Given the description of an element on the screen output the (x, y) to click on. 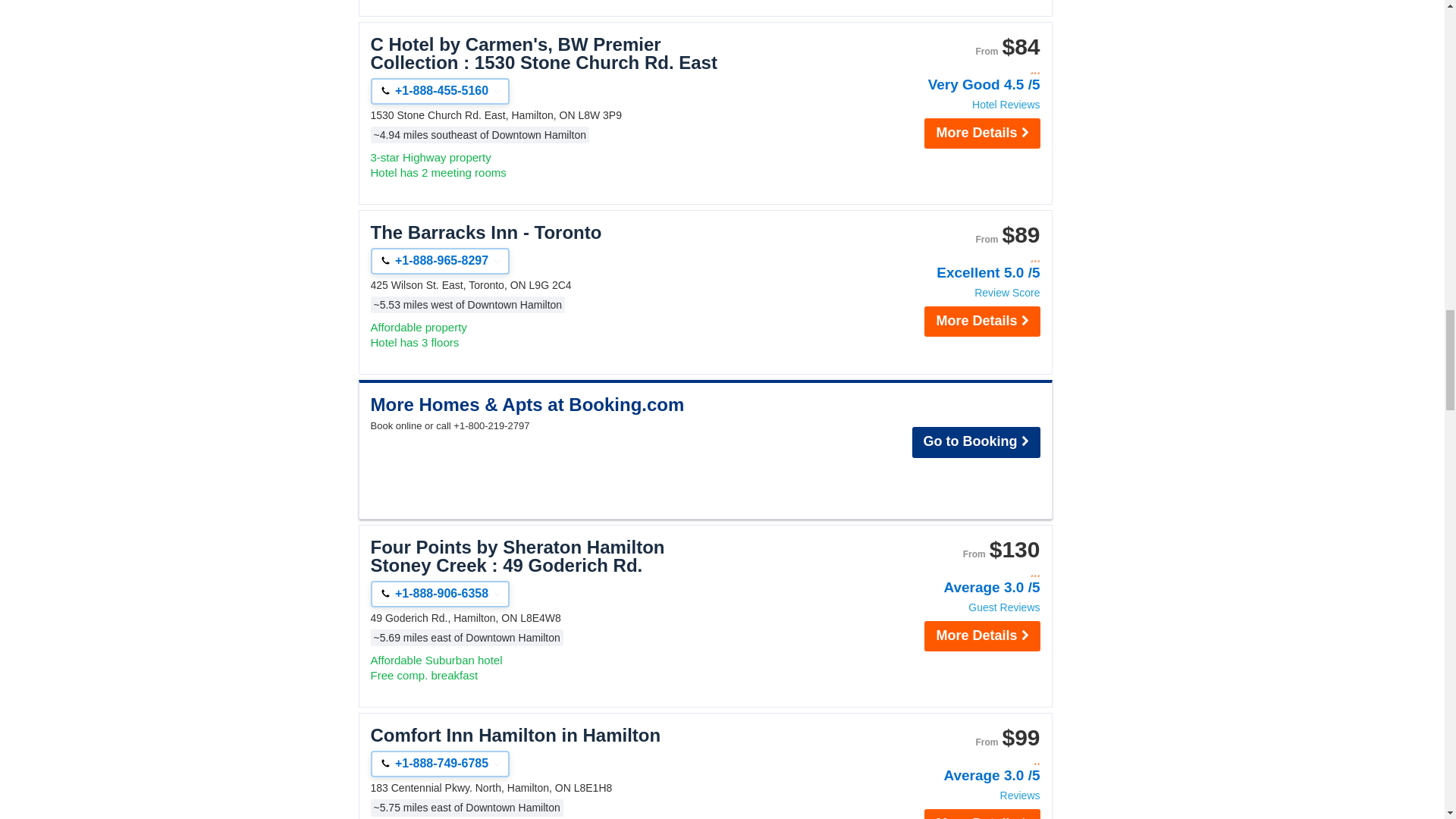
2 stars (958, 759)
3 stars (958, 69)
3 stars (958, 571)
3 stars (958, 256)
